Given the description of an element on the screen output the (x, y) to click on. 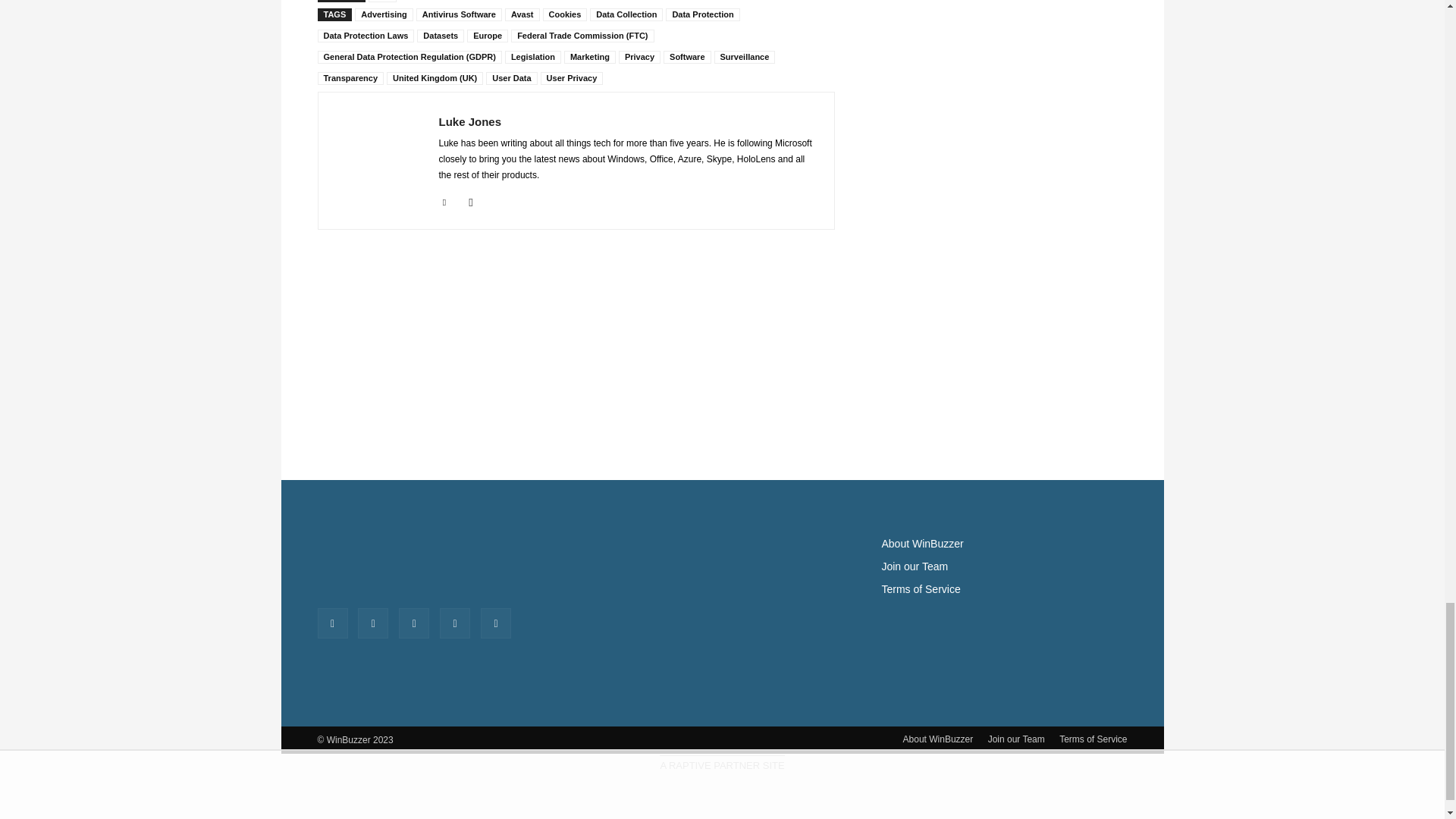
Linkedin (443, 199)
